Given the description of an element on the screen output the (x, y) to click on. 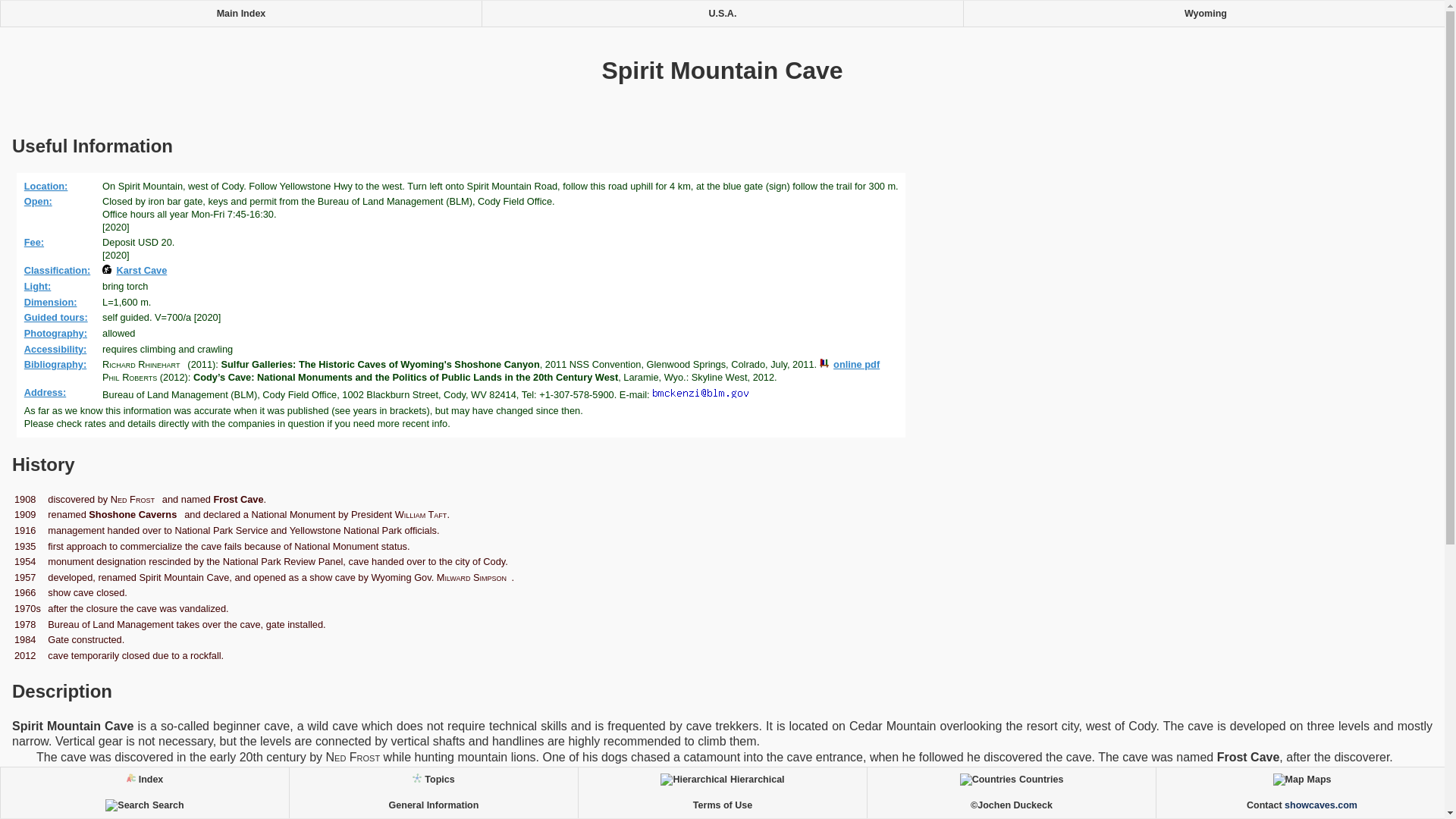
Index (144, 780)
Classification: (60, 270)
Open: (40, 201)
Guided tours: (58, 317)
Photography: (58, 333)
Location: (48, 185)
Light: (40, 285)
Main Index (240, 13)
U.S.A. (721, 13)
Bibliography: (57, 364)
Topics (433, 780)
Accessibility: (57, 348)
Hierarchical (722, 780)
Countries (1011, 780)
Karst Cave (136, 270)
